Given the description of an element on the screen output the (x, y) to click on. 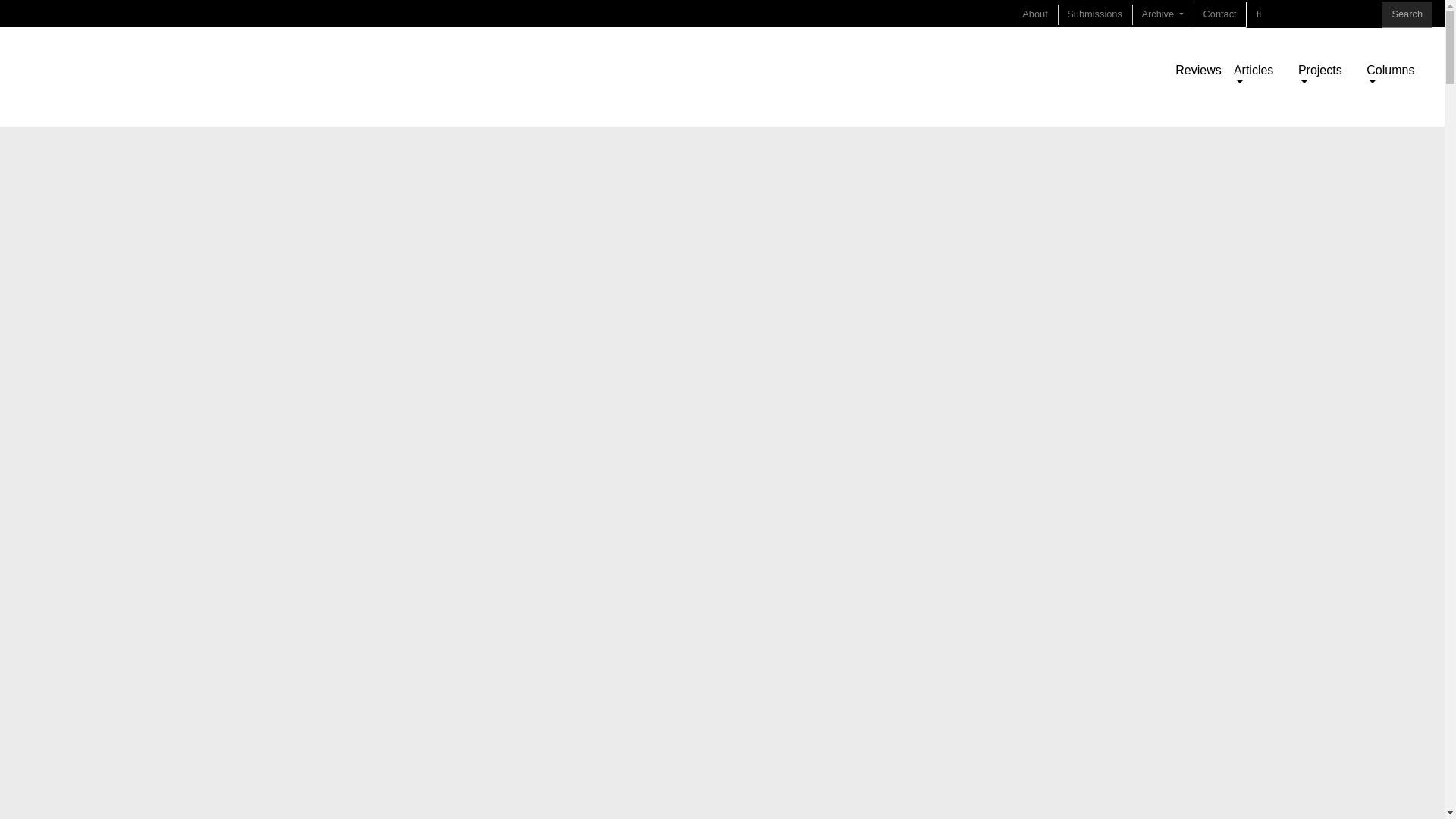
Archive (1162, 14)
About (1034, 14)
Articles (1258, 76)
Projects (1325, 76)
Submissions (1095, 14)
Columns (1395, 76)
Archive (1162, 14)
Search (1406, 14)
Contact (1219, 14)
Projects (1325, 76)
